Given the description of an element on the screen output the (x, y) to click on. 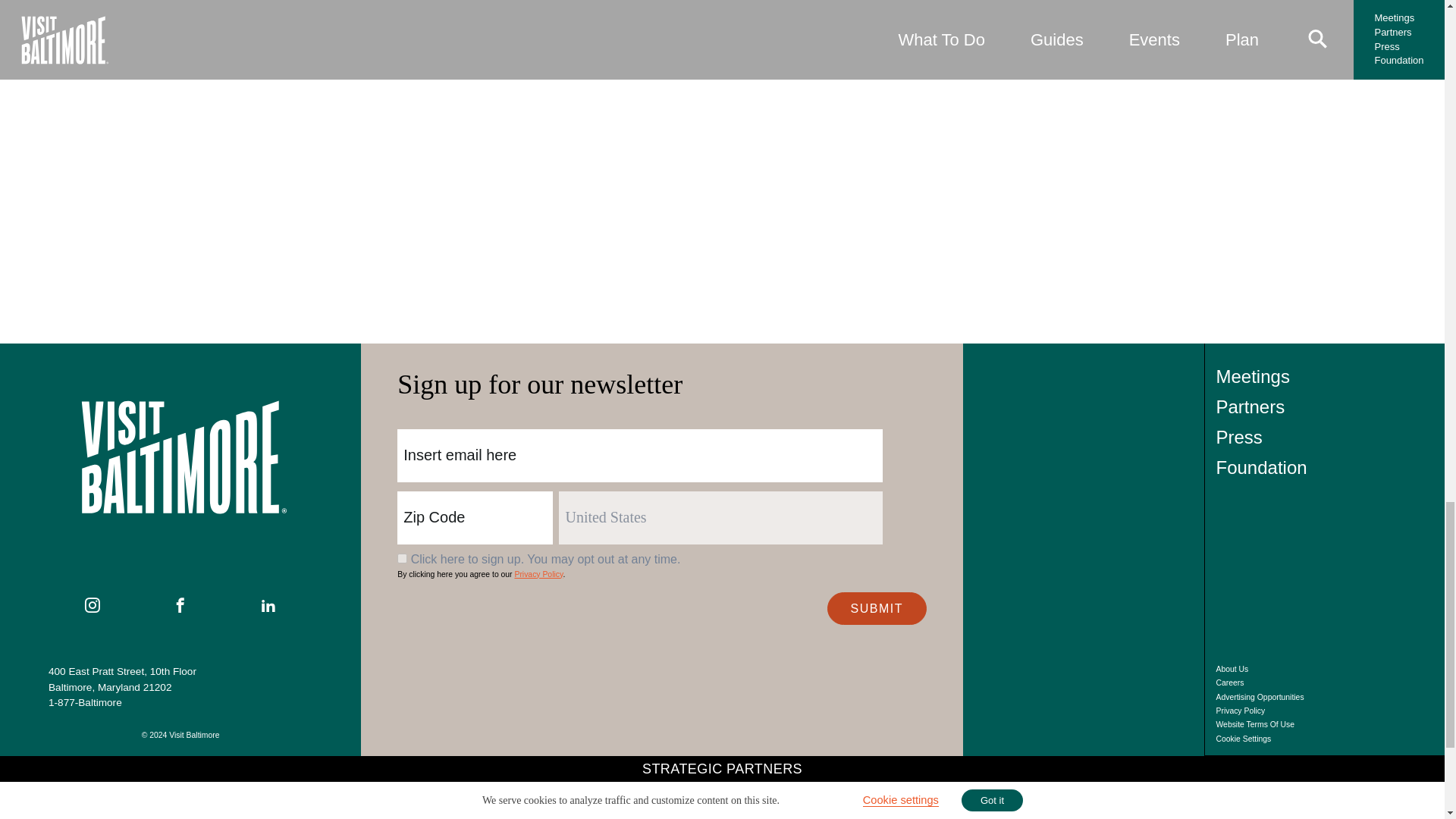
1 (402, 558)
